Given the description of an element on the screen output the (x, y) to click on. 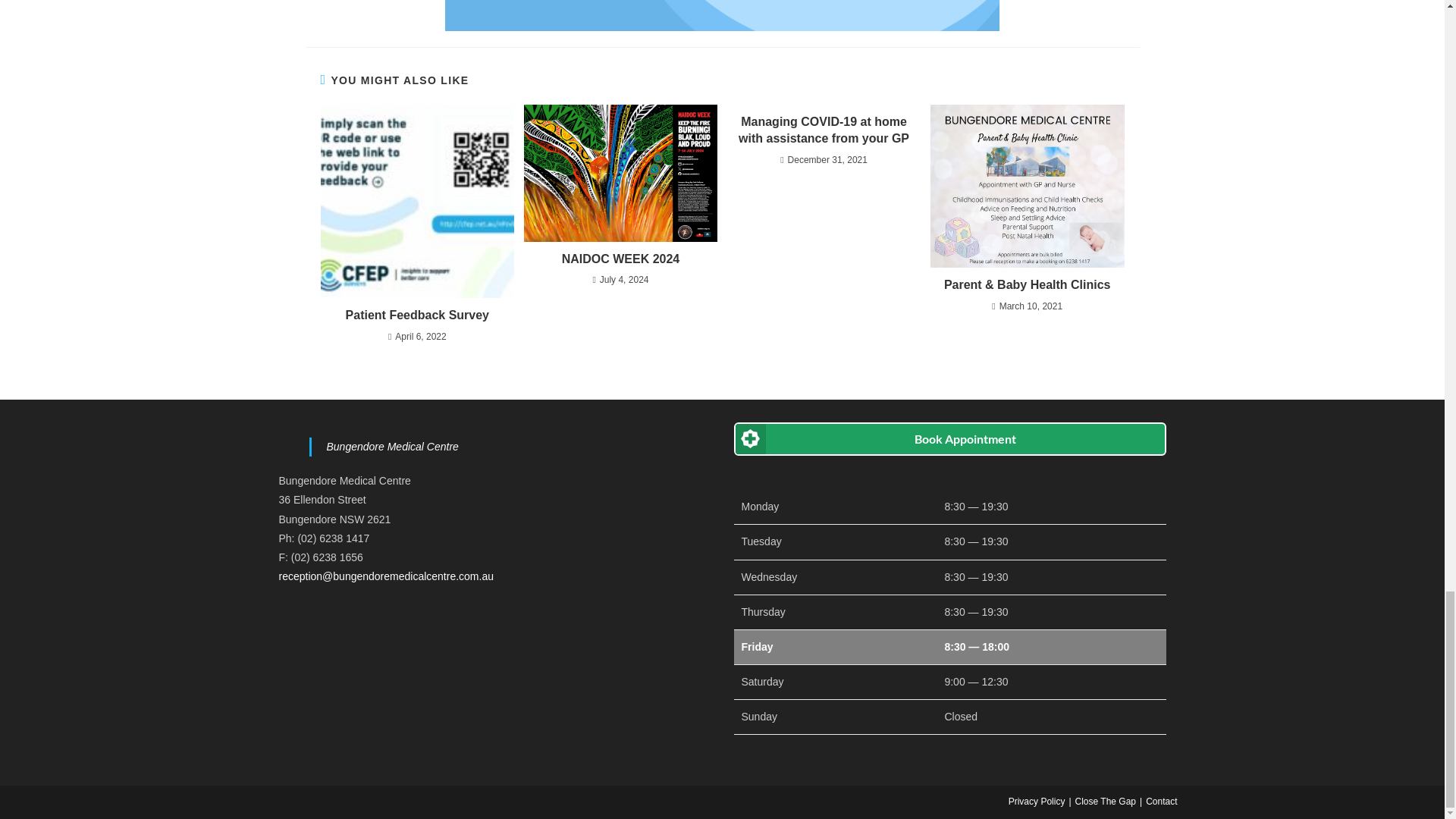
Patient Feedback Survey (417, 315)
Book Appointment (949, 438)
NAIDOC WEEK 2024 (620, 258)
Close The Gap (1106, 801)
Bungendore Medical Centre (392, 446)
Privacy Policy (1037, 801)
Contact (1160, 801)
Managing COVID-19 at home with assistance from your GP (824, 130)
